Given the description of an element on the screen output the (x, y) to click on. 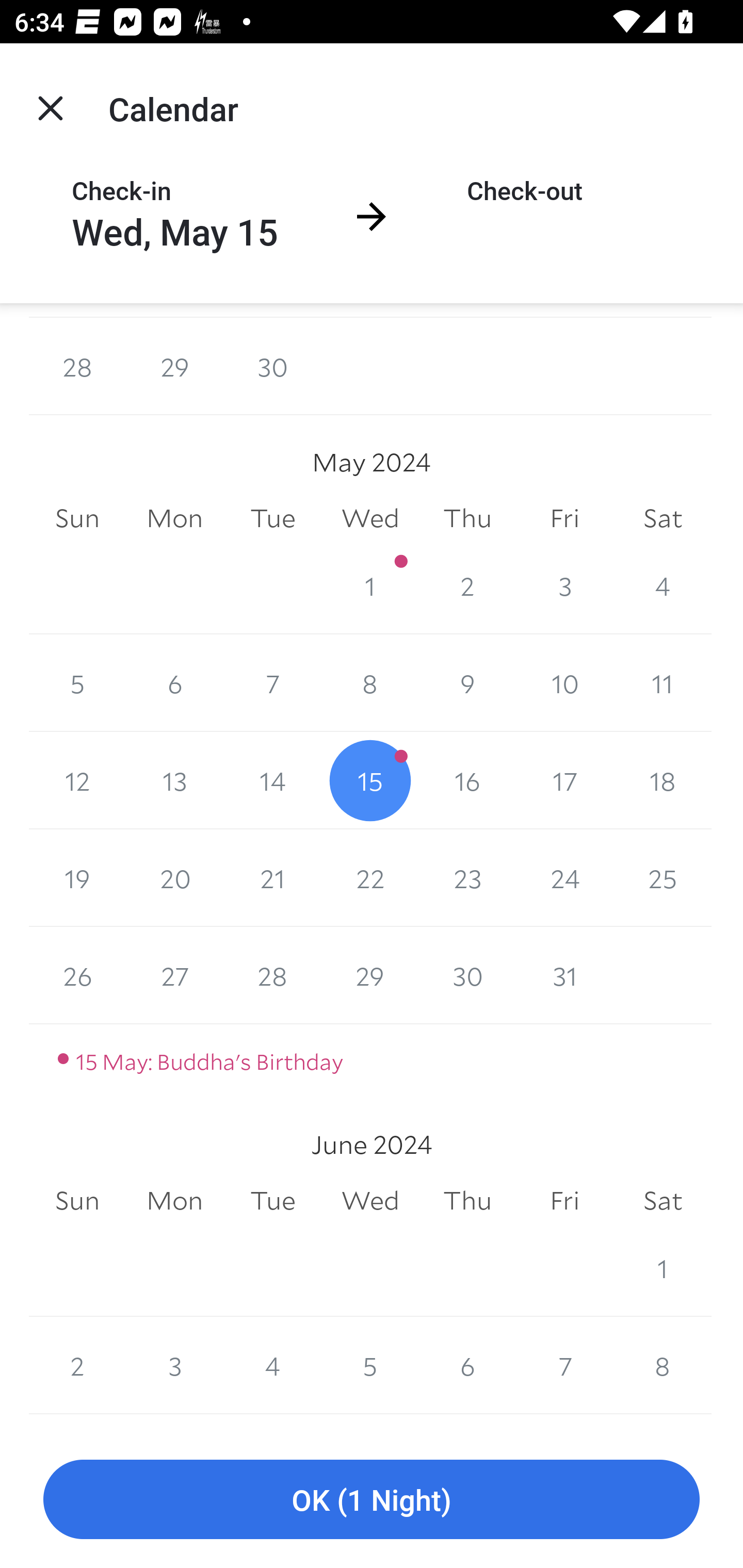
28 28 April 2024 (77, 366)
29 29 April 2024 (174, 366)
30 30 April 2024 (272, 366)
Sun (77, 518)
Mon (174, 518)
Tue (272, 518)
Wed (370, 518)
Thu (467, 518)
Fri (564, 518)
Sat (662, 518)
1 1 May 2024 (370, 585)
2 2 May 2024 (467, 585)
3 3 May 2024 (564, 585)
4 4 May 2024 (662, 585)
5 5 May 2024 (77, 683)
6 6 May 2024 (174, 683)
7 7 May 2024 (272, 683)
8 8 May 2024 (370, 683)
9 9 May 2024 (467, 683)
10 10 May 2024 (564, 683)
11 11 May 2024 (662, 683)
12 12 May 2024 (77, 780)
13 13 May 2024 (174, 780)
14 14 May 2024 (272, 780)
15 15 May 2024 (370, 780)
16 16 May 2024 (467, 780)
17 17 May 2024 (564, 780)
18 18 May 2024 (662, 780)
19 19 May 2024 (77, 877)
20 20 May 2024 (174, 877)
21 21 May 2024 (272, 877)
22 22 May 2024 (370, 877)
23 23 May 2024 (467, 877)
24 24 May 2024 (564, 877)
25 25 May 2024 (662, 877)
26 26 May 2024 (77, 974)
27 27 May 2024 (174, 974)
28 28 May 2024 (272, 974)
29 29 May 2024 (370, 974)
30 30 May 2024 (467, 974)
31 31 May 2024 (564, 974)
Sun (77, 1200)
Mon (174, 1200)
Tue (272, 1200)
Wed (370, 1200)
Thu (467, 1200)
Fri (564, 1200)
Sat (662, 1200)
1 1 June 2024 (662, 1268)
